Given the description of an element on the screen output the (x, y) to click on. 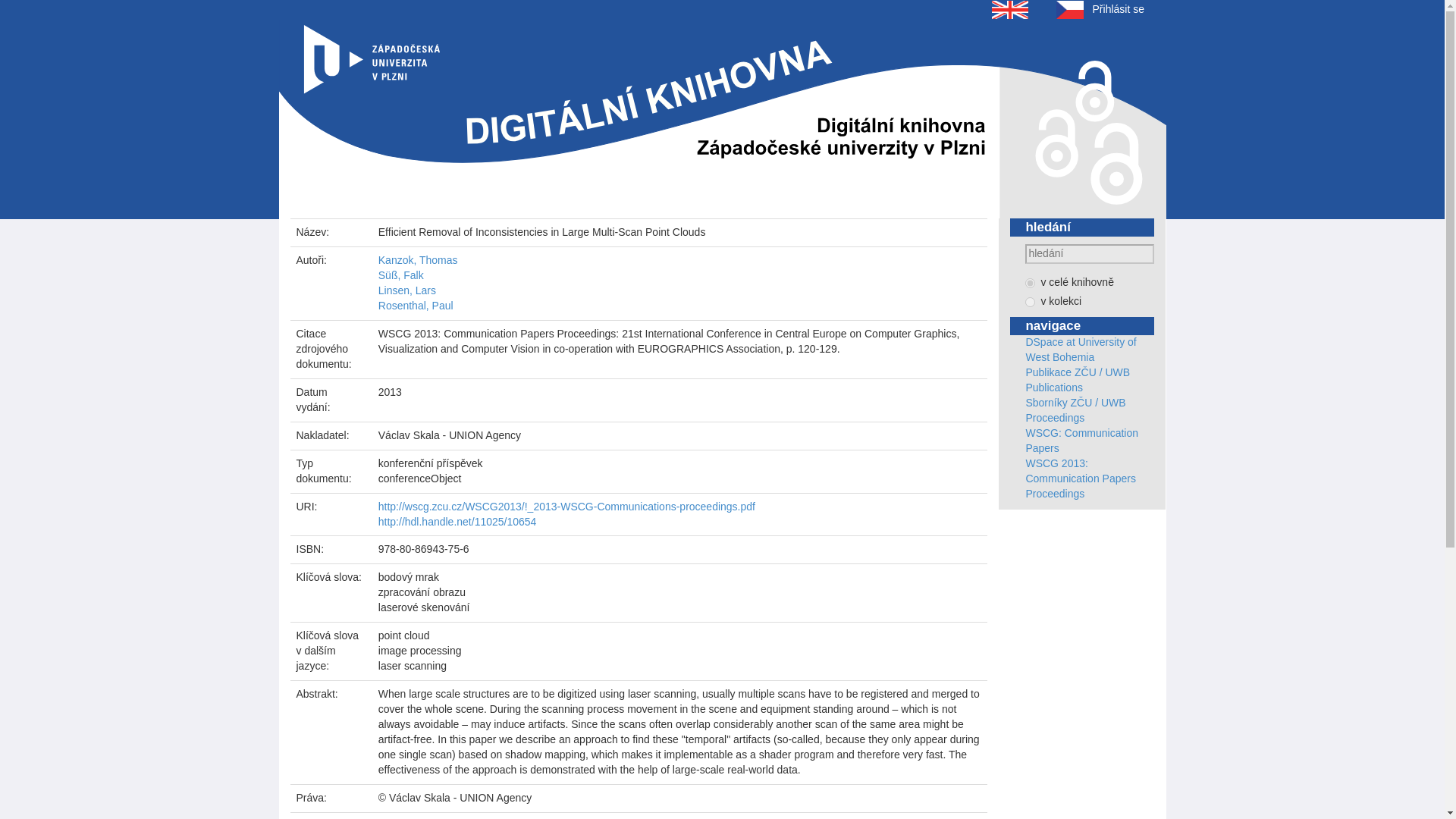
option1 (1030, 283)
option2 (1030, 302)
DSpace at University of West Bohemia (1080, 349)
Kanzok, Thomas (418, 259)
WSCG 2013: Communication Papers Proceedings (1080, 478)
Rosenthal, Paul (415, 305)
Linsen, Lars (406, 290)
WSCG: Communication Papers (1081, 440)
